Given the description of an element on the screen output the (x, y) to click on. 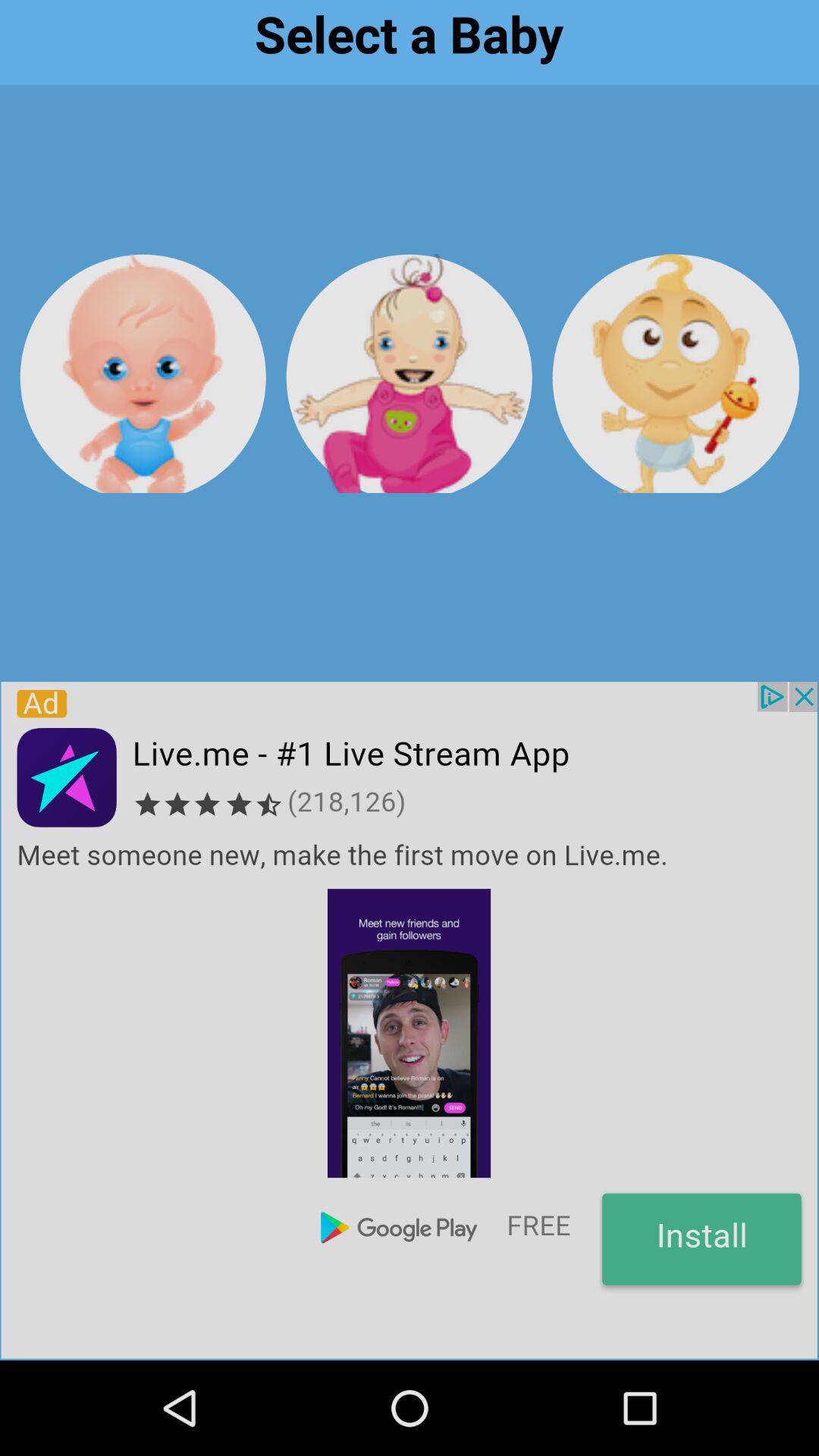
select baby (675, 373)
